Given the description of an element on the screen output the (x, y) to click on. 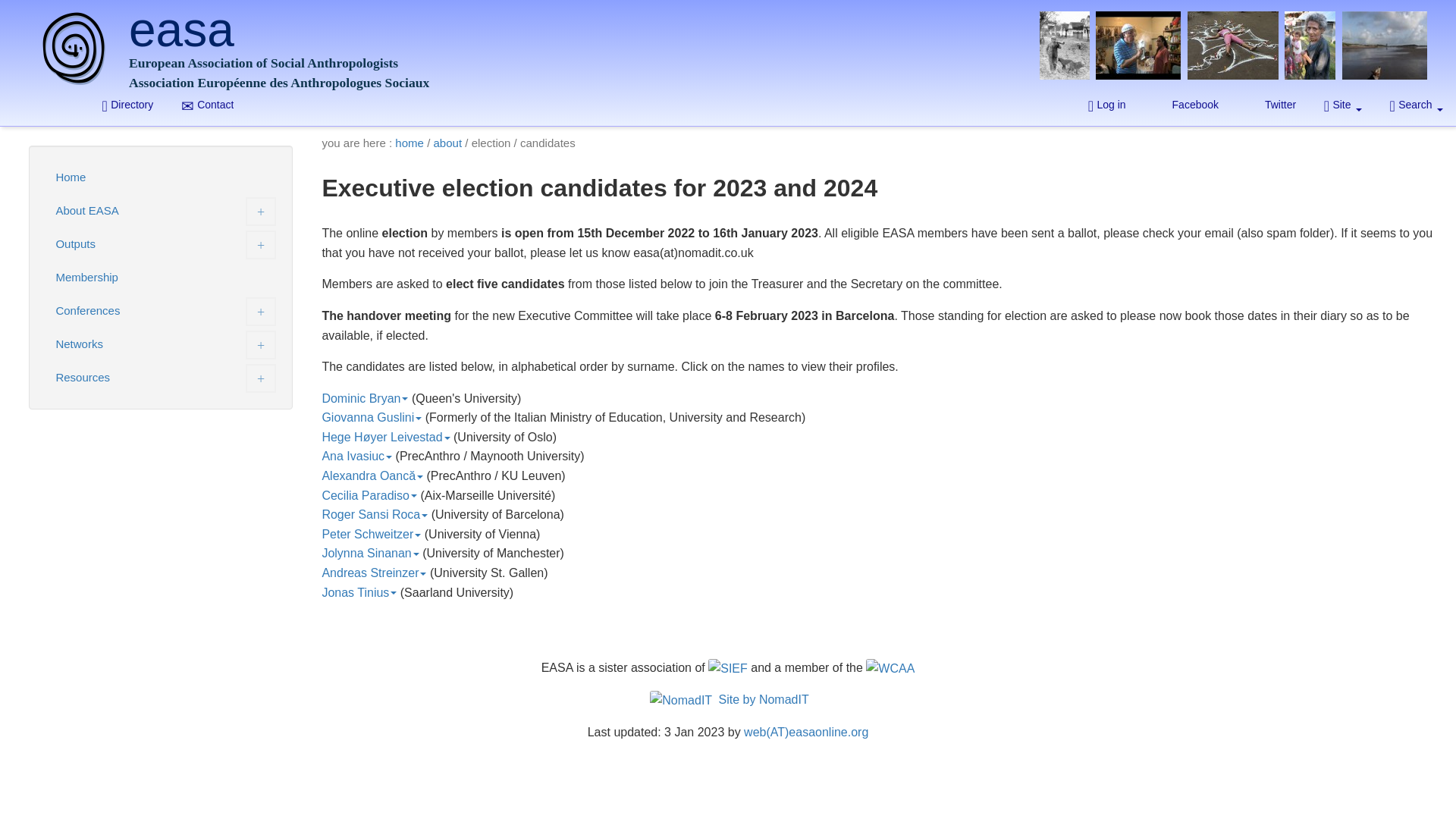
Directory (126, 105)
easa (698, 1)
About EASA (160, 210)
Twitter (1270, 105)
photo by Prof James Leach (1309, 51)
skip to content (126, 105)
Easa home page (71, 48)
photo by Dr Roger Canals (71, 47)
